Given the description of an element on the screen output the (x, y) to click on. 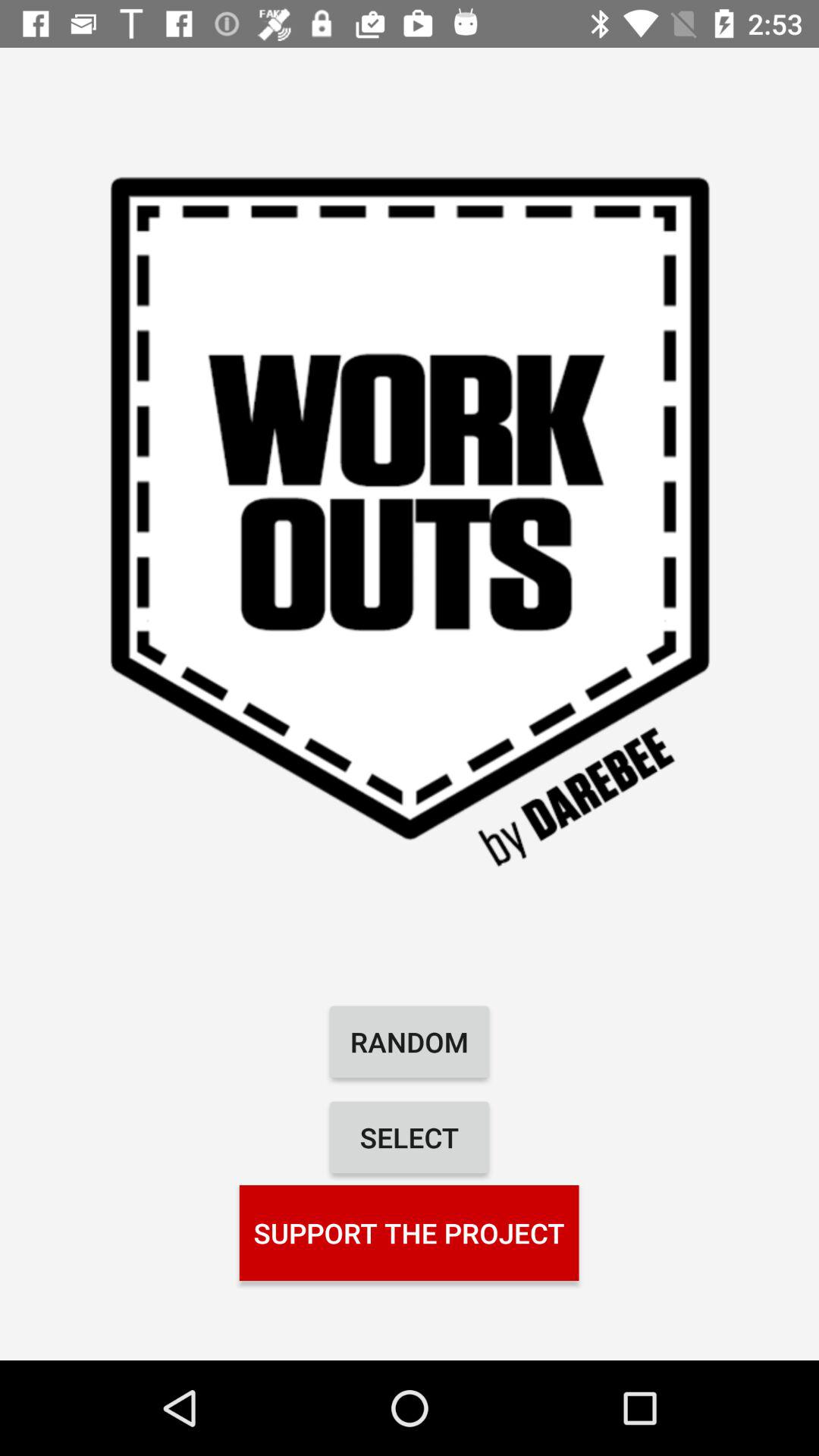
scroll until support the project item (408, 1232)
